Given the description of an element on the screen output the (x, y) to click on. 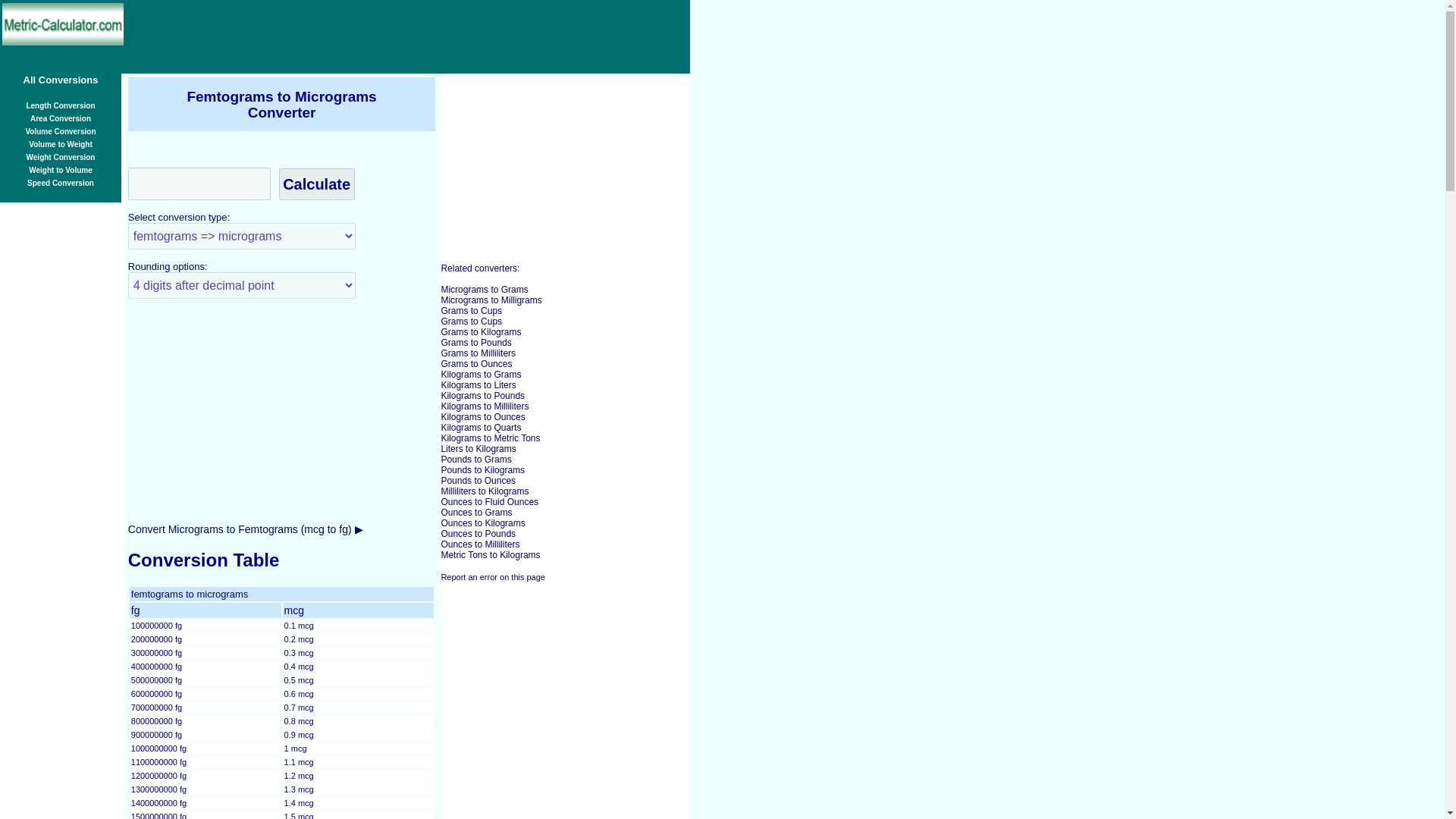
Grams to Cups (471, 310)
Grams to Pounds (476, 342)
Ounces to Kilograms (482, 522)
Ounces to Grams (476, 511)
Micrograms to Grams (484, 289)
Kilograms to Pounds (482, 395)
Pounds to Kilograms (482, 470)
Kilograms to Quarts (481, 427)
Grams to Kilograms (481, 331)
Area Conversion (60, 117)
Kilograms to Liters (478, 385)
Ounces to Milliliters (480, 543)
Grams to Cups (471, 321)
Metric Tons to Kilograms (490, 554)
Grams to Ounces (476, 363)
